Given the description of an element on the screen output the (x, y) to click on. 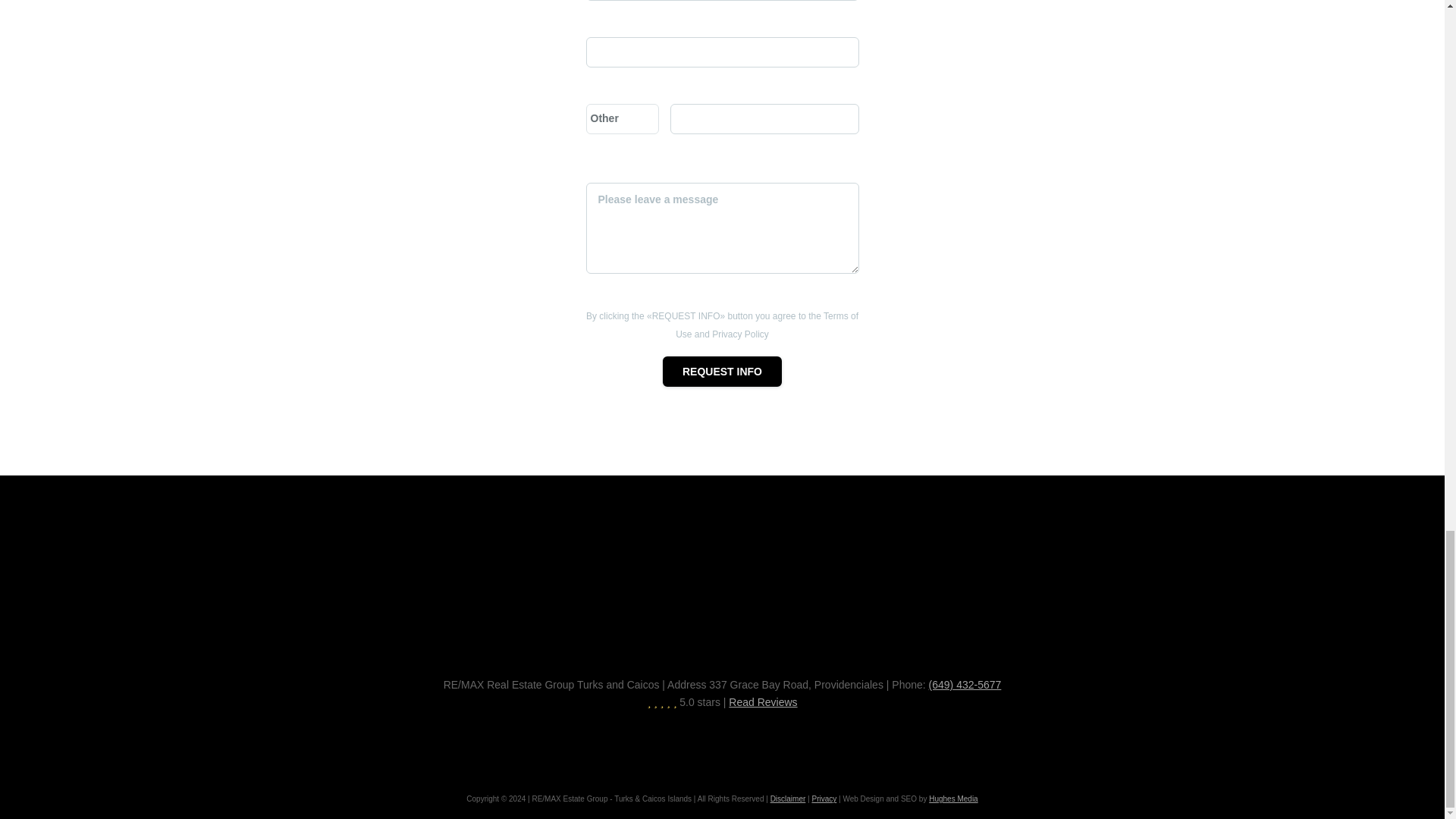
Visit us on Facebook (667, 748)
Visit us on Youtube (703, 748)
Visit us on Linkedin (740, 748)
Visit us on Instagram (776, 748)
